Given the description of an element on the screen output the (x, y) to click on. 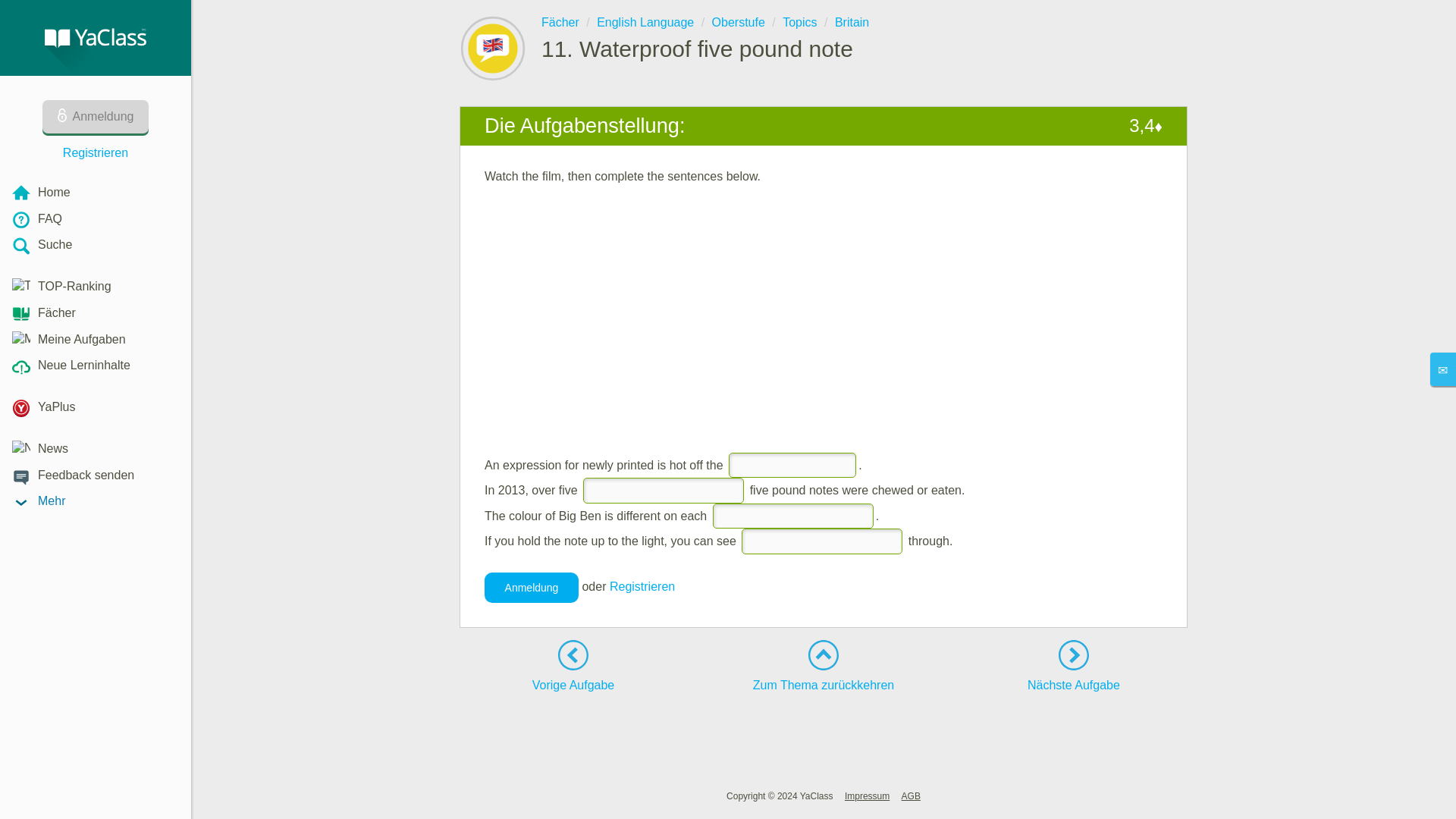
Oberstufe (738, 21)
Topics (799, 21)
Neue Lerninhalte (95, 365)
Anmeldung (531, 587)
Britain (851, 21)
Add to Twitter (1155, 24)
English Language (645, 21)
Registrieren (642, 585)
Mehr (95, 501)
FAQ (95, 218)
TOP-Ranking (95, 285)
Vorige Aufgabe (573, 665)
News (95, 447)
Meine Aufgaben (95, 338)
YaPlus (95, 406)
